Given the description of an element on the screen output the (x, y) to click on. 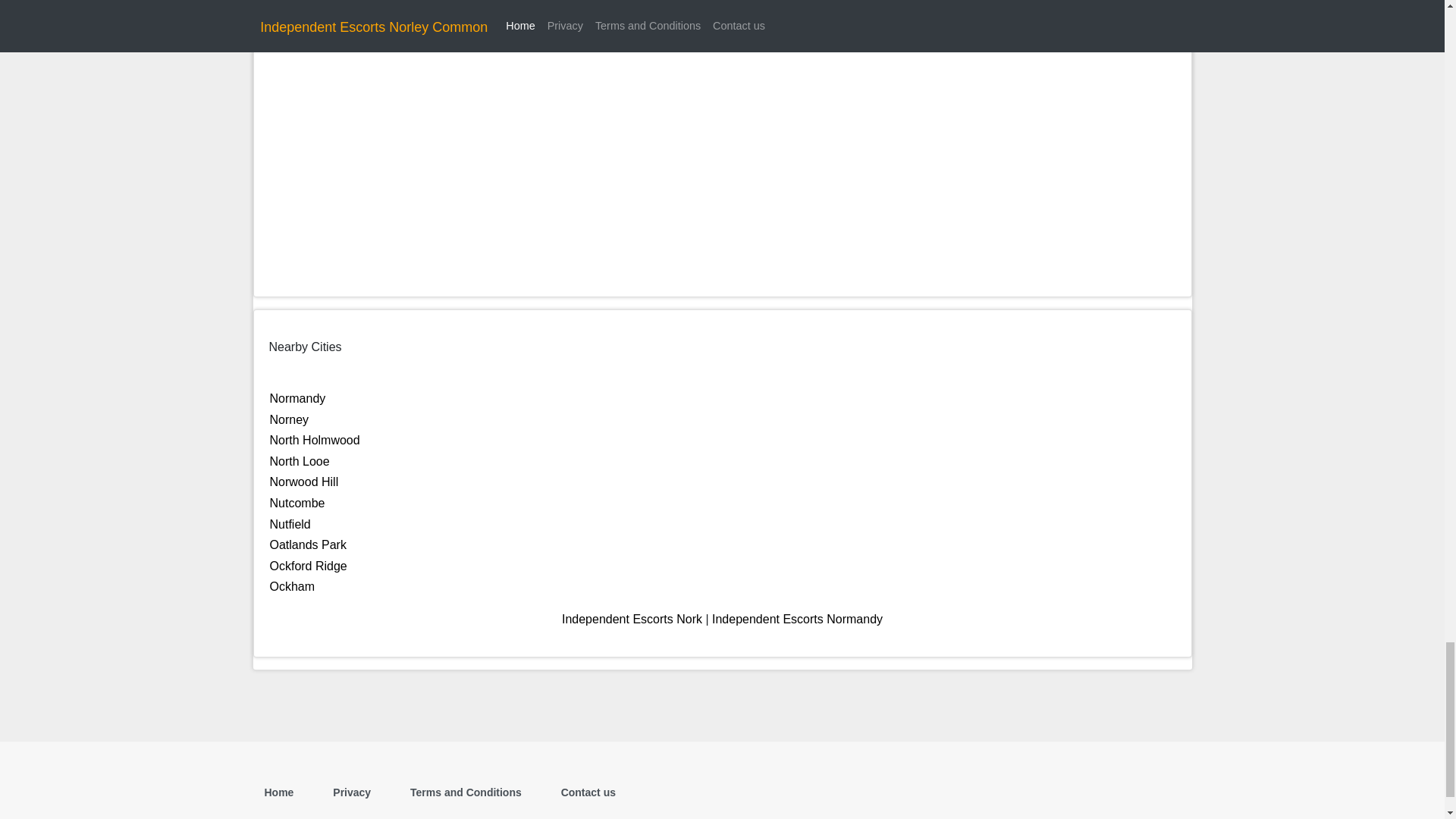
Norney (288, 419)
Nutcombe (296, 502)
Norwood Hill (304, 481)
Nutfield (290, 523)
Independent Escorts Nork (631, 618)
North Looe (299, 461)
Normandy (297, 398)
Independent Escorts Normandy (796, 618)
Ockford Ridge (308, 565)
Ockham (292, 585)
Oatlands Park (307, 544)
North Holmwood (314, 440)
